Given the description of an element on the screen output the (x, y) to click on. 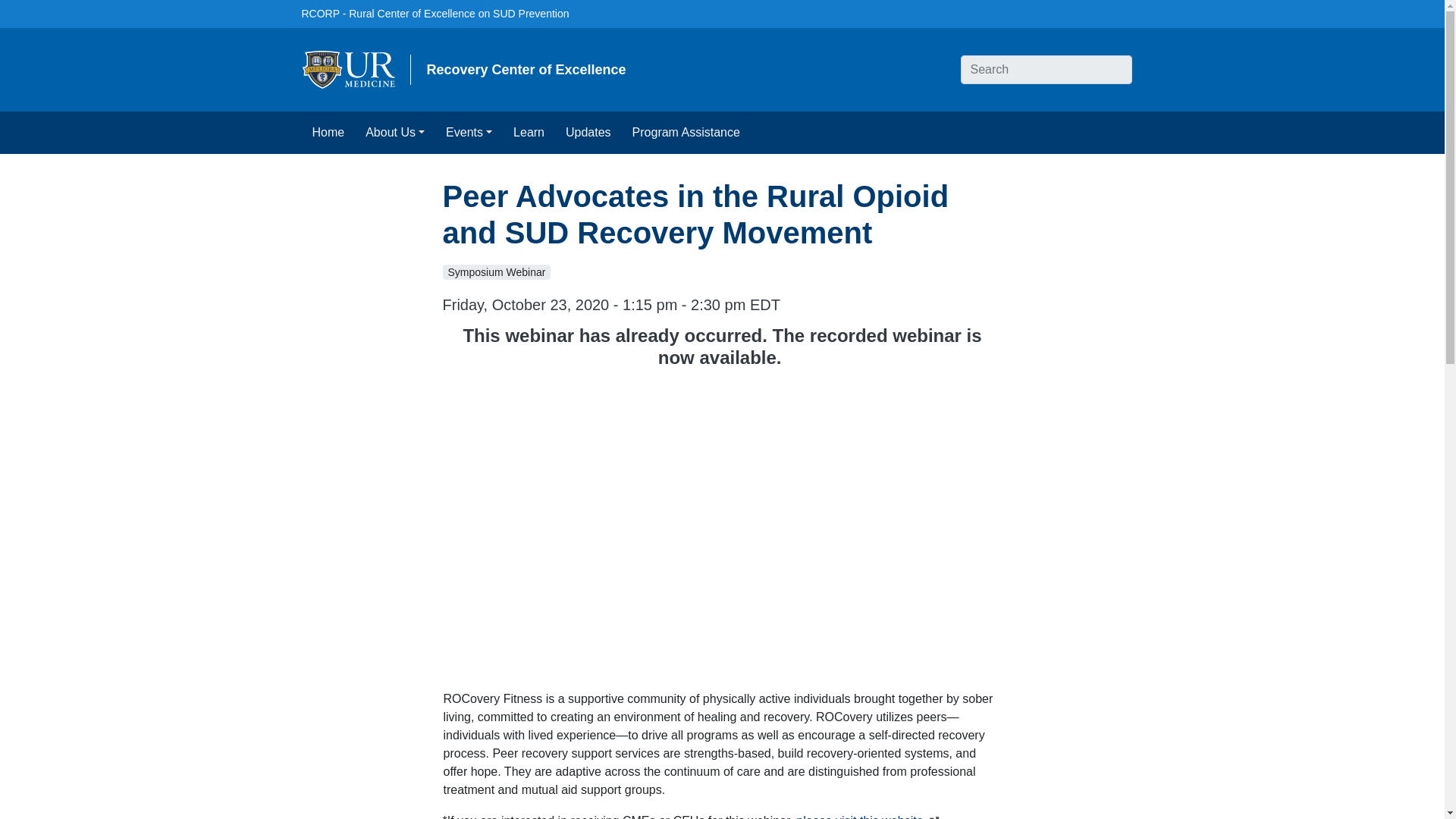
Events (468, 132)
Updates (587, 132)
Home (328, 132)
Enter the terms you wish to search for. (1045, 69)
Learn (528, 132)
About Us (395, 132)
please visit this website. (869, 816)
Program Assistance (686, 132)
